Given the description of an element on the screen output the (x, y) to click on. 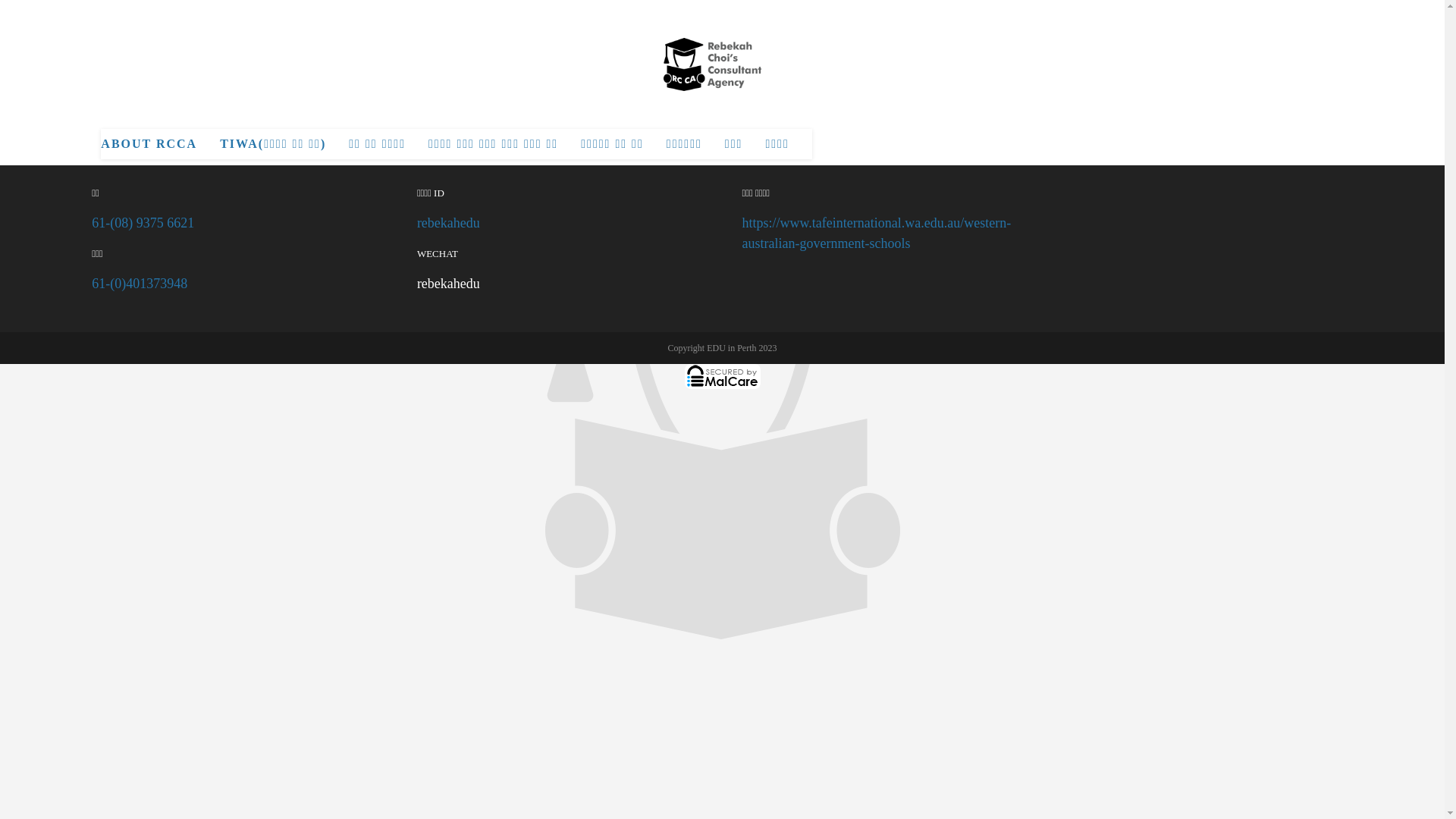
rebekahedu Element type: text (448, 283)
ABOUT RCCA Element type: text (148, 143)
